Given the description of an element on the screen output the (x, y) to click on. 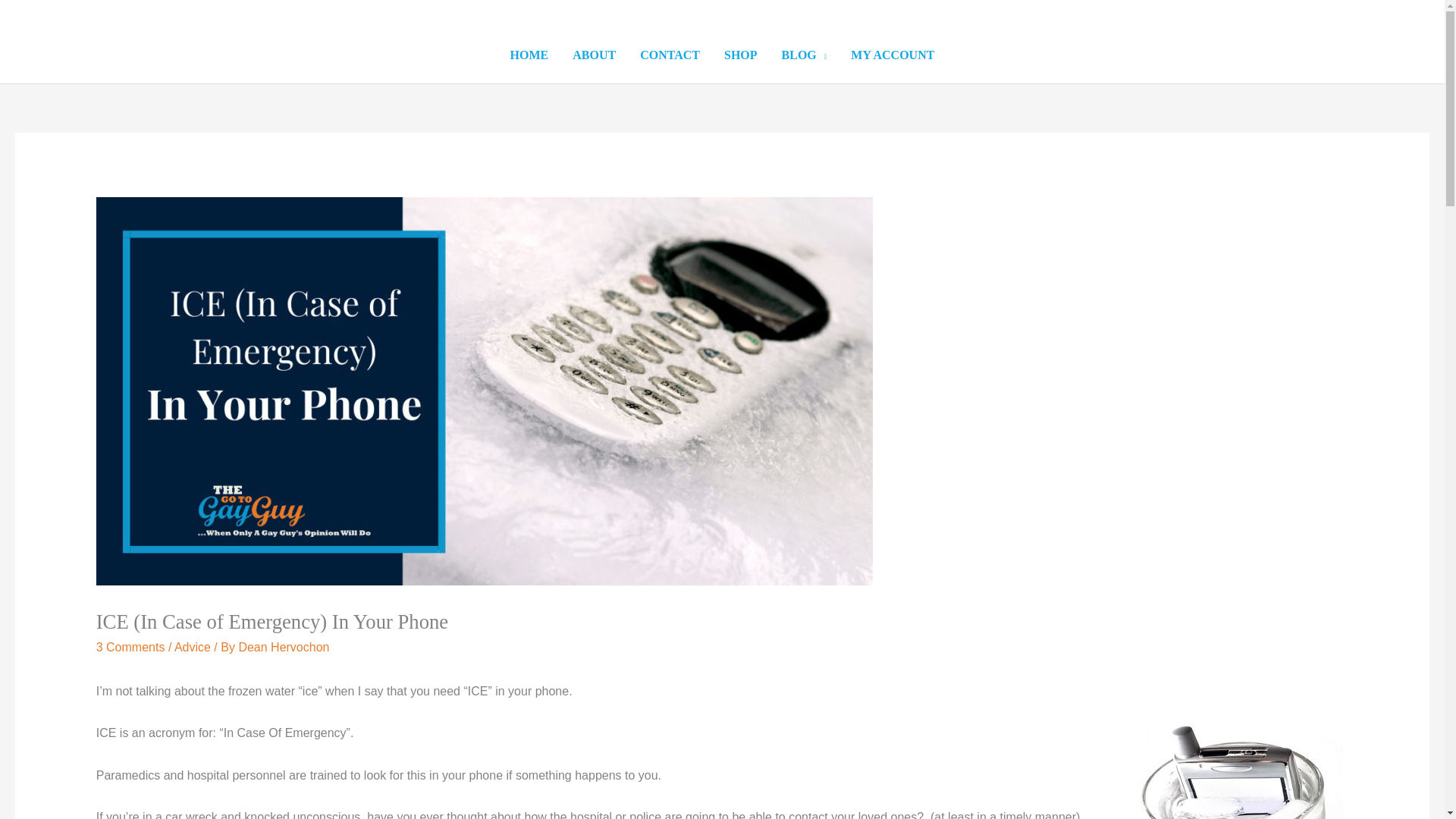
View all posts by Dean Hervochon (283, 646)
BLOG (805, 55)
Advice (192, 646)
ICE Phone in Ice (1242, 770)
MY ACCOUNT (892, 55)
SHOP (740, 55)
ABOUT (593, 55)
CONTACT (669, 55)
3 Comments (130, 646)
Dean Hervochon (283, 646)
